Given the description of an element on the screen output the (x, y) to click on. 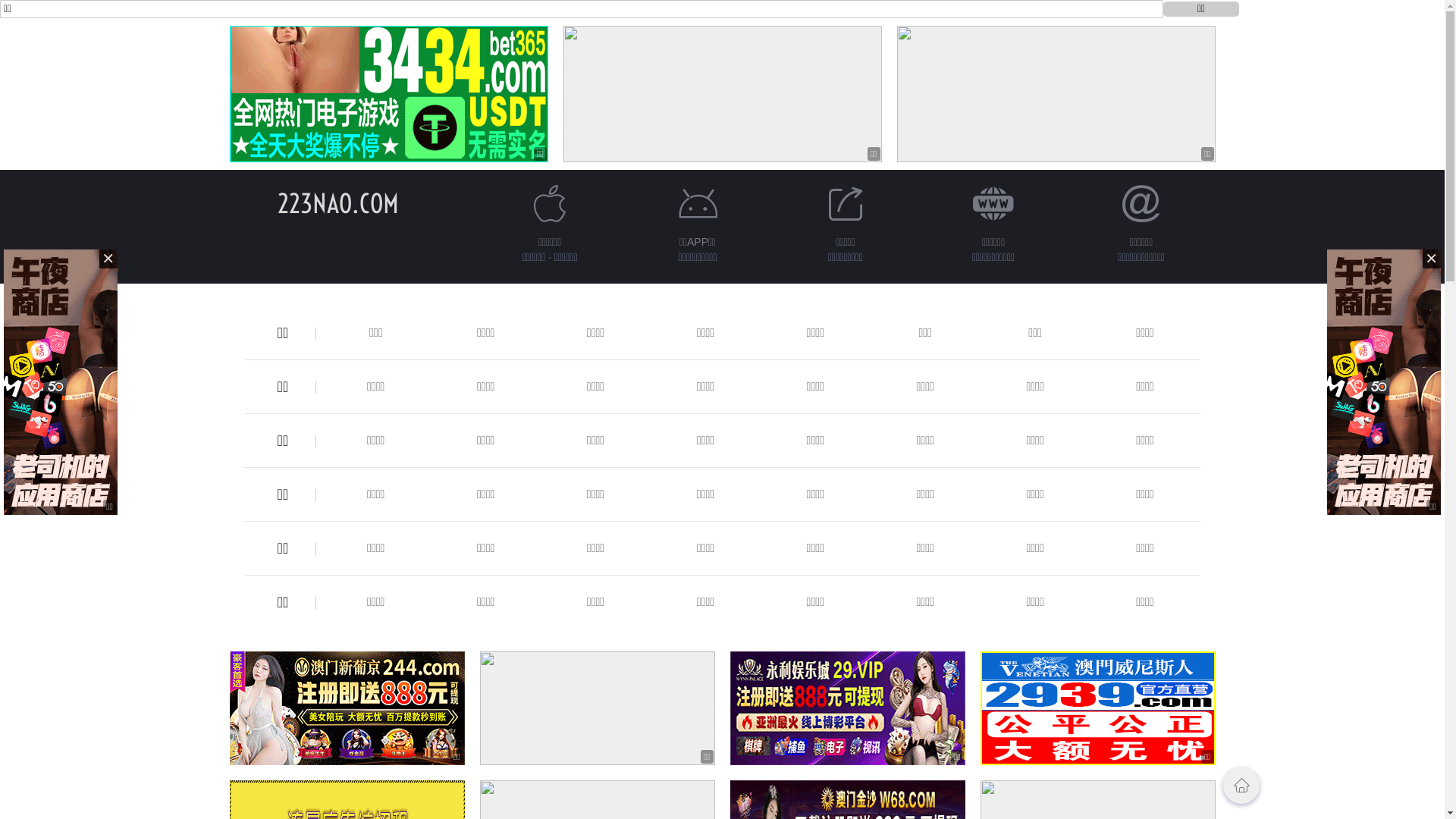
223NAO.COM Element type: text (337, 203)
